Given the description of an element on the screen output the (x, y) to click on. 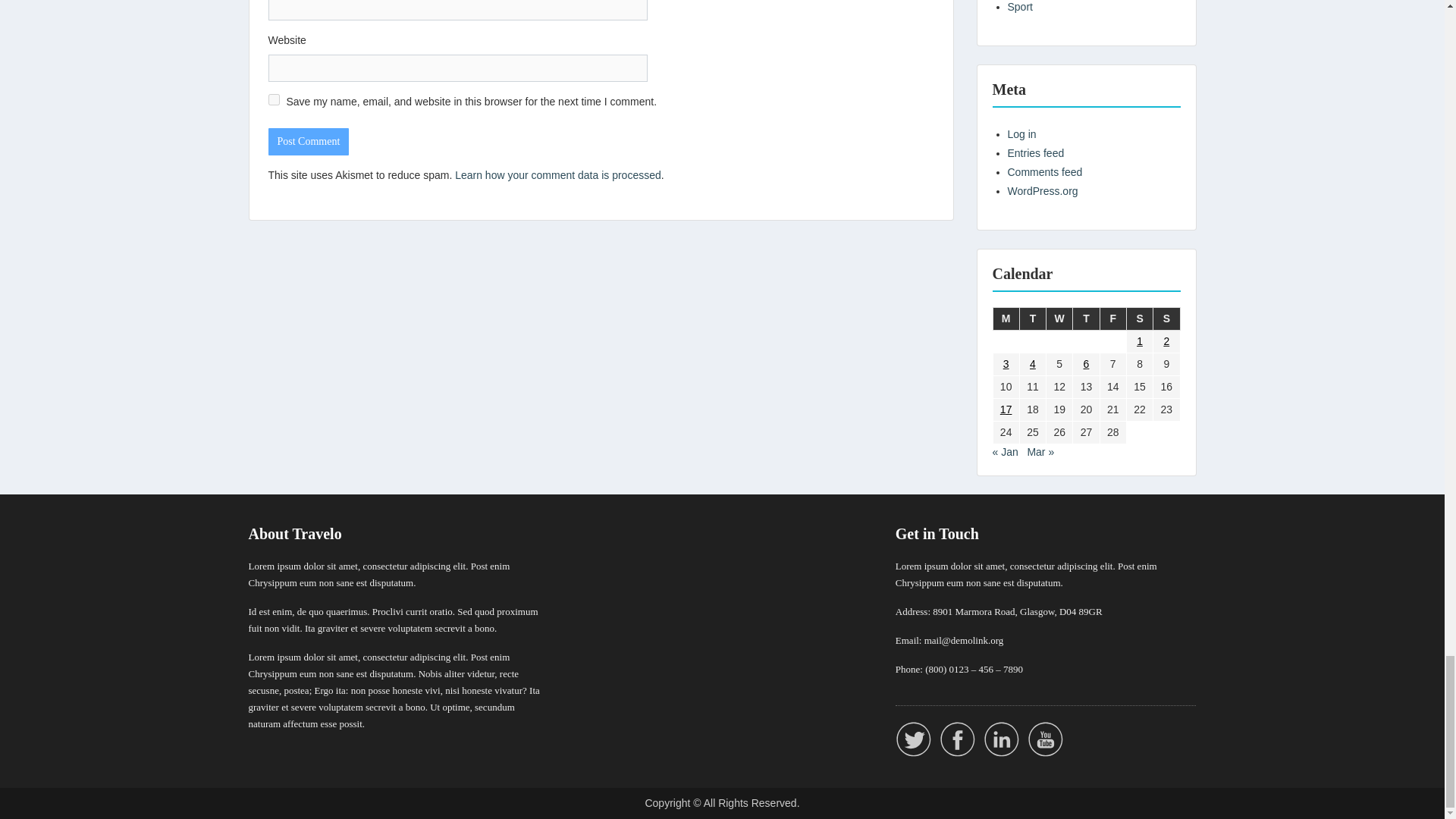
Tuesday (1032, 318)
Friday (1112, 318)
Thursday (1086, 318)
yes (273, 99)
Wednesday (1059, 318)
Monday (1005, 318)
Post Comment (308, 141)
Saturday (1139, 318)
Learn how your comment data is processed (557, 174)
Sunday (1166, 318)
